Given the description of an element on the screen output the (x, y) to click on. 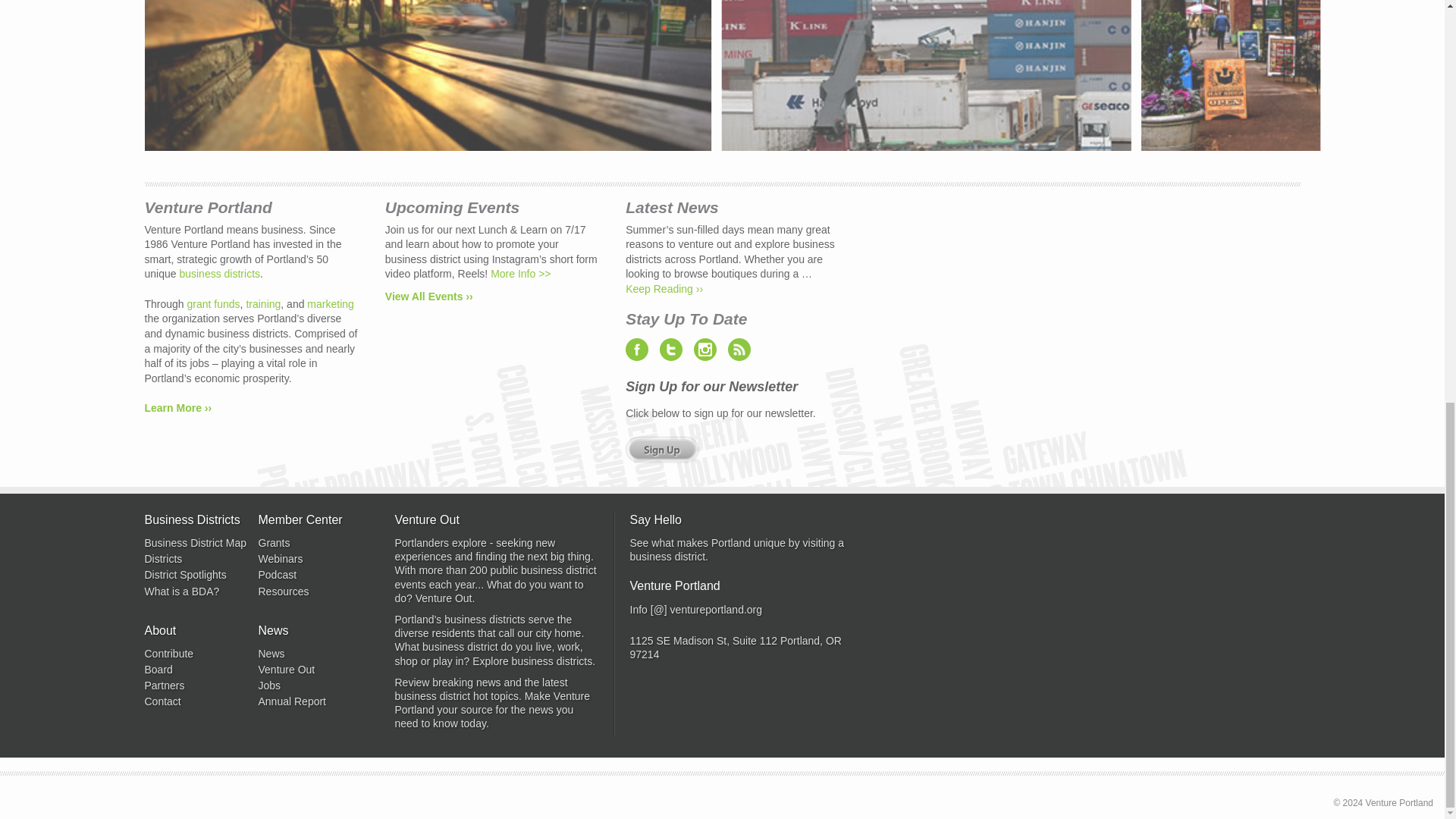
News (314, 653)
Webinars (314, 558)
Business Districts (219, 273)
Board (200, 669)
Grants (314, 542)
Districts (200, 558)
training (263, 304)
About (177, 408)
Venture Out (314, 669)
District Spotlights (200, 574)
News (314, 631)
Contact (200, 701)
Podcast (314, 574)
Business Districts (200, 520)
Business District Map (200, 542)
